Given the description of an element on the screen output the (x, y) to click on. 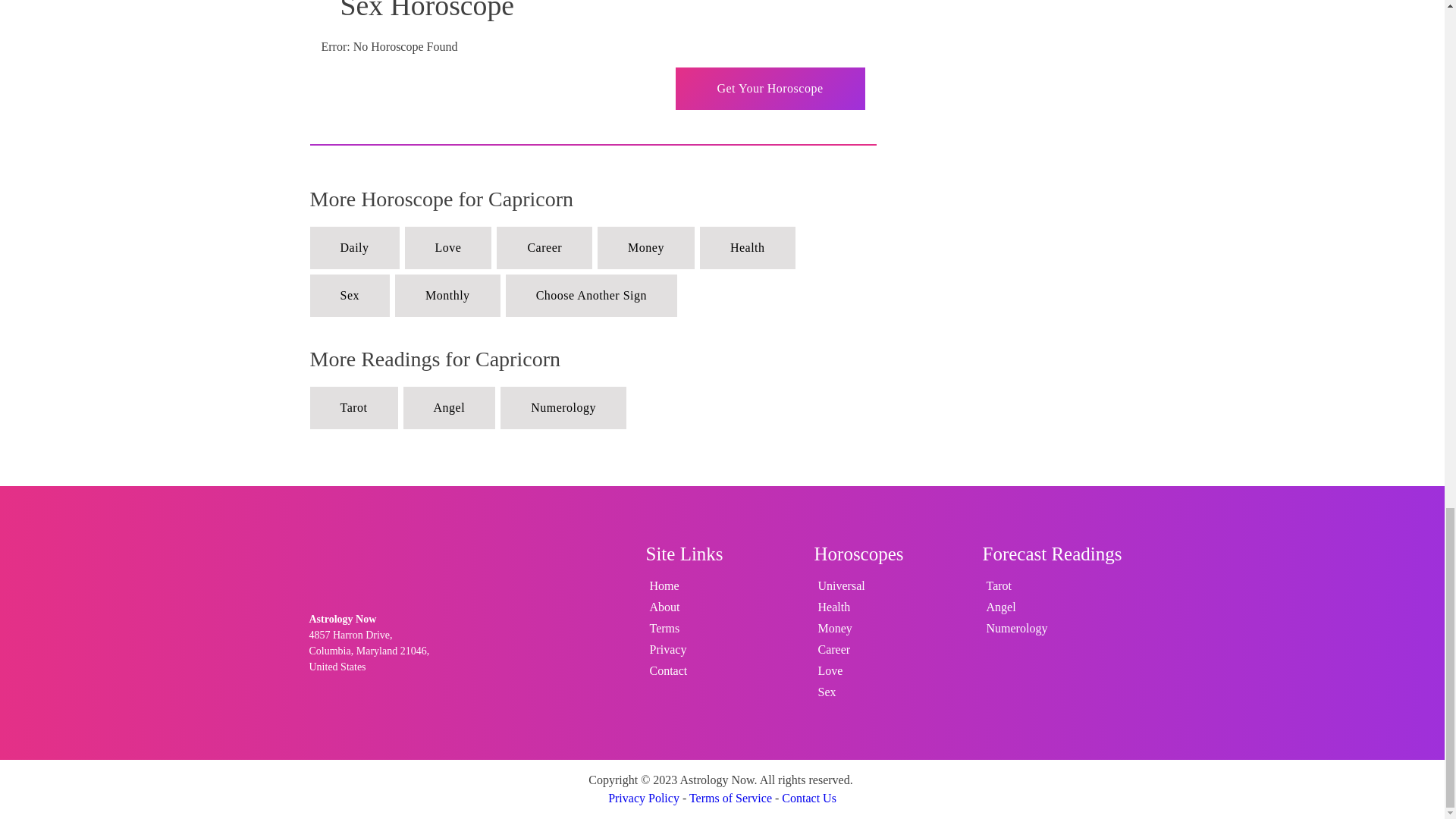
Contact (668, 670)
Monthly (447, 295)
Daily (353, 247)
Privacy (668, 649)
Health (747, 247)
Angel (449, 407)
Sex (349, 295)
About (668, 607)
Love (448, 247)
Numerology (563, 407)
Choose Another Sign (591, 295)
Get Your Horoscope (769, 88)
Tarot (352, 407)
Terms (668, 628)
Career (544, 247)
